Given the description of an element on the screen output the (x, y) to click on. 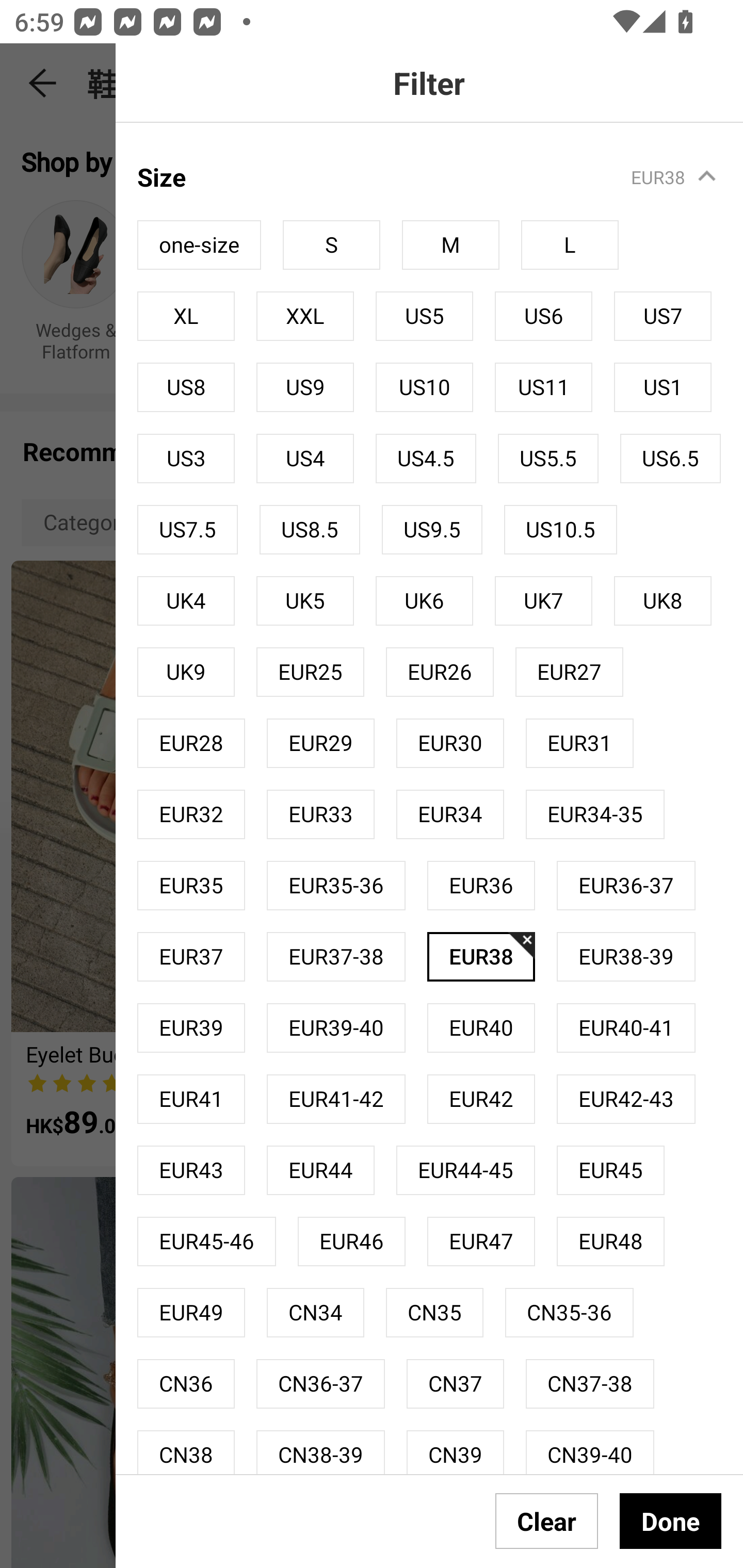
Size EUR38 (440, 166)
one-size (198, 244)
S (331, 244)
M (450, 244)
L (569, 244)
XL (185, 315)
XXL (304, 315)
US5 (424, 315)
US6 (543, 315)
US7 (662, 315)
US8 (185, 387)
US9 (304, 387)
US10 (424, 387)
US11 (543, 387)
US1 (662, 387)
US3 (185, 458)
US4 (304, 458)
US4.5 (425, 458)
US5.5 (547, 458)
US6.5 (670, 458)
US7.5 (187, 529)
US8.5 (309, 529)
US9.5 (431, 529)
US10.5 (560, 529)
UK4 (185, 600)
UK5 (304, 600)
UK6 (424, 600)
UK7 (543, 600)
UK8 (662, 600)
UK9 (185, 671)
EUR25 (310, 671)
EUR26 (439, 671)
EUR27 (569, 671)
EUR28 (191, 743)
EUR29 (320, 743)
EUR30 (449, 743)
EUR31 (579, 743)
EUR32 (191, 814)
EUR33 (320, 814)
EUR34 (449, 814)
EUR34-35 (595, 814)
EUR35 (191, 885)
EUR35-36 (335, 885)
EUR36 (480, 885)
EUR36-37 (625, 885)
EUR37 (191, 956)
EUR37-38 (335, 956)
EUR38 (480, 956)
EUR38-39 (625, 956)
EUR39 (191, 1027)
EUR39-40 (335, 1027)
EUR40 (480, 1027)
EUR40-41 (625, 1027)
EUR41 (191, 1099)
EUR41-42 (335, 1099)
EUR42 (480, 1099)
EUR42-43 (625, 1099)
EUR45 (621, 1170)
EUR43 (191, 1170)
EUR44 (320, 1170)
EUR44-45 (465, 1170)
EUR45 (610, 1170)
EUR45-46 (206, 1241)
EUR46 (351, 1241)
EUR47 (480, 1241)
EUR48 (610, 1241)
EUR49 (191, 1312)
CN34 (315, 1312)
CN35 (434, 1312)
CN35-36 (569, 1312)
CN36 (185, 1383)
CN36-37 (320, 1383)
CN37 (454, 1383)
CN37-38 (590, 1383)
CN38 (185, 1451)
CN38-39 (320, 1451)
CN39 (454, 1451)
CN39-40 (590, 1451)
Clear (546, 1520)
Done (670, 1520)
